Given the description of an element on the screen output the (x, y) to click on. 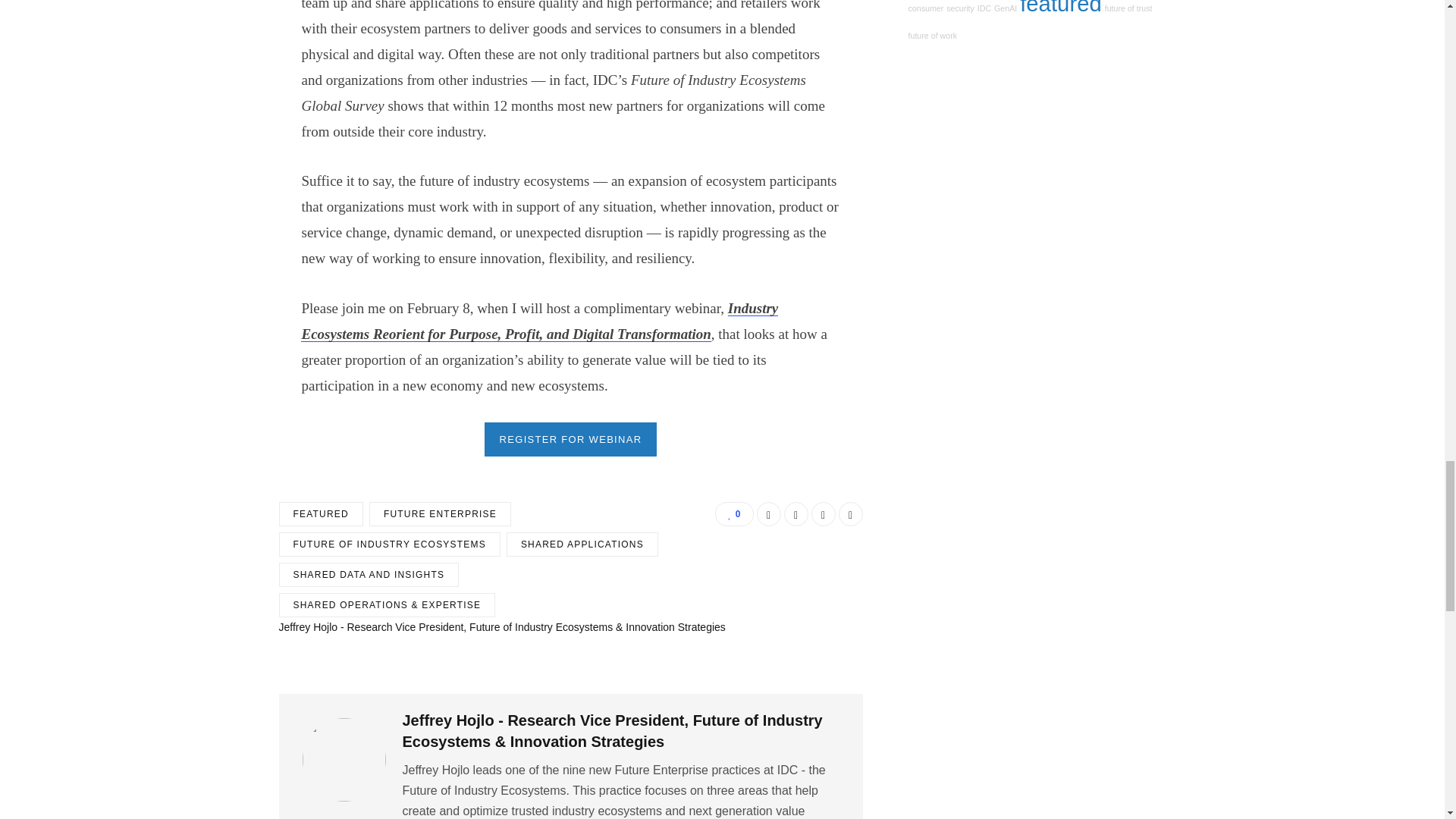
FUTURE OF INDUSTRY ECOSYSTEMS (389, 544)
REGISTER FOR WEBINAR (571, 439)
Share on Facebook (768, 514)
FEATURED (320, 514)
FUTURE ENTERPRISE (440, 514)
SHARED DATA AND INSIGHTS (369, 574)
SHARED APPLICATIONS (582, 544)
Share on Twitter (796, 514)
0 (733, 514)
